Given the description of an element on the screen output the (x, y) to click on. 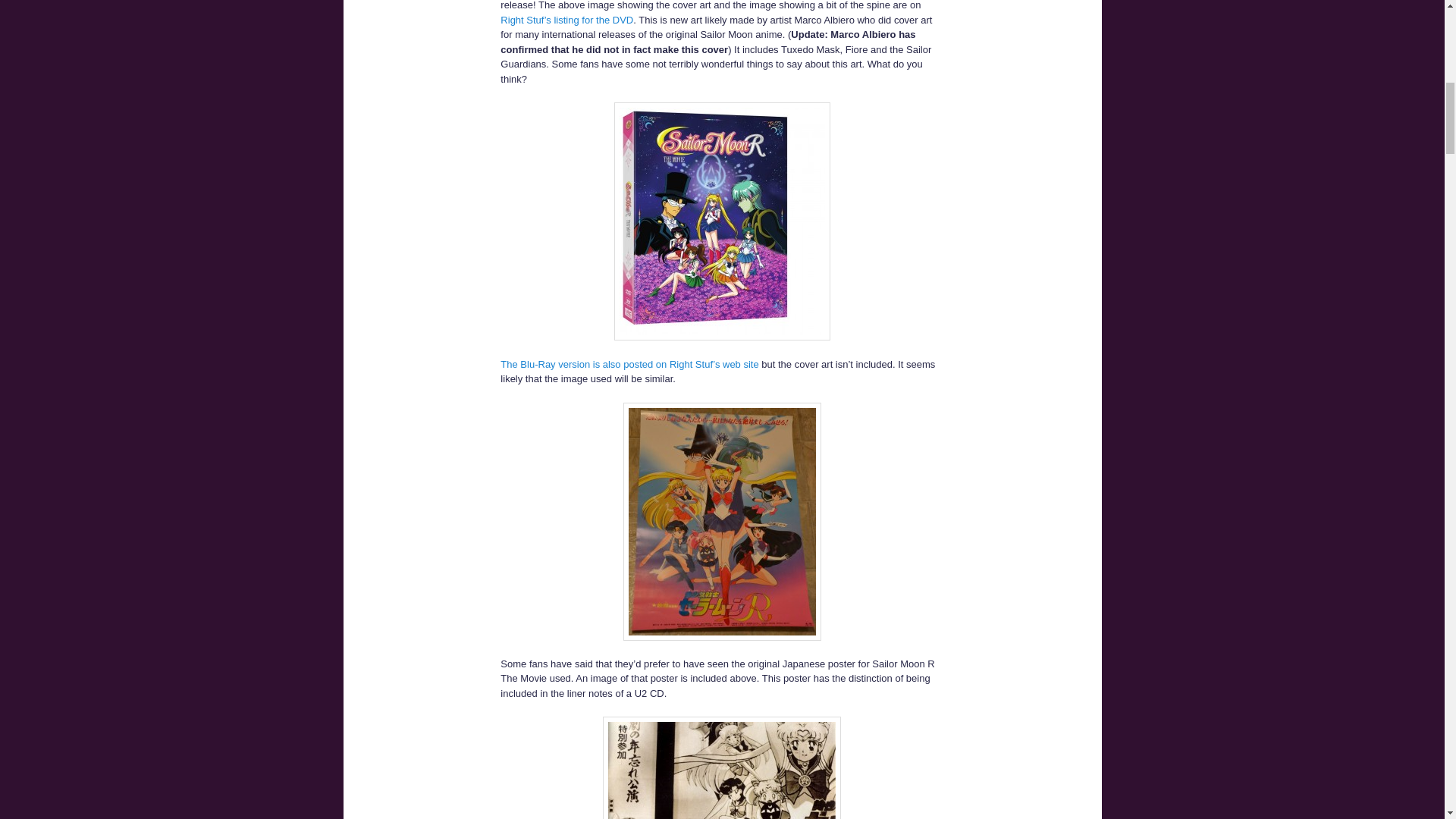
Right Stuf (629, 364)
Right Stuf Anime (566, 19)
